Given the description of an element on the screen output the (x, y) to click on. 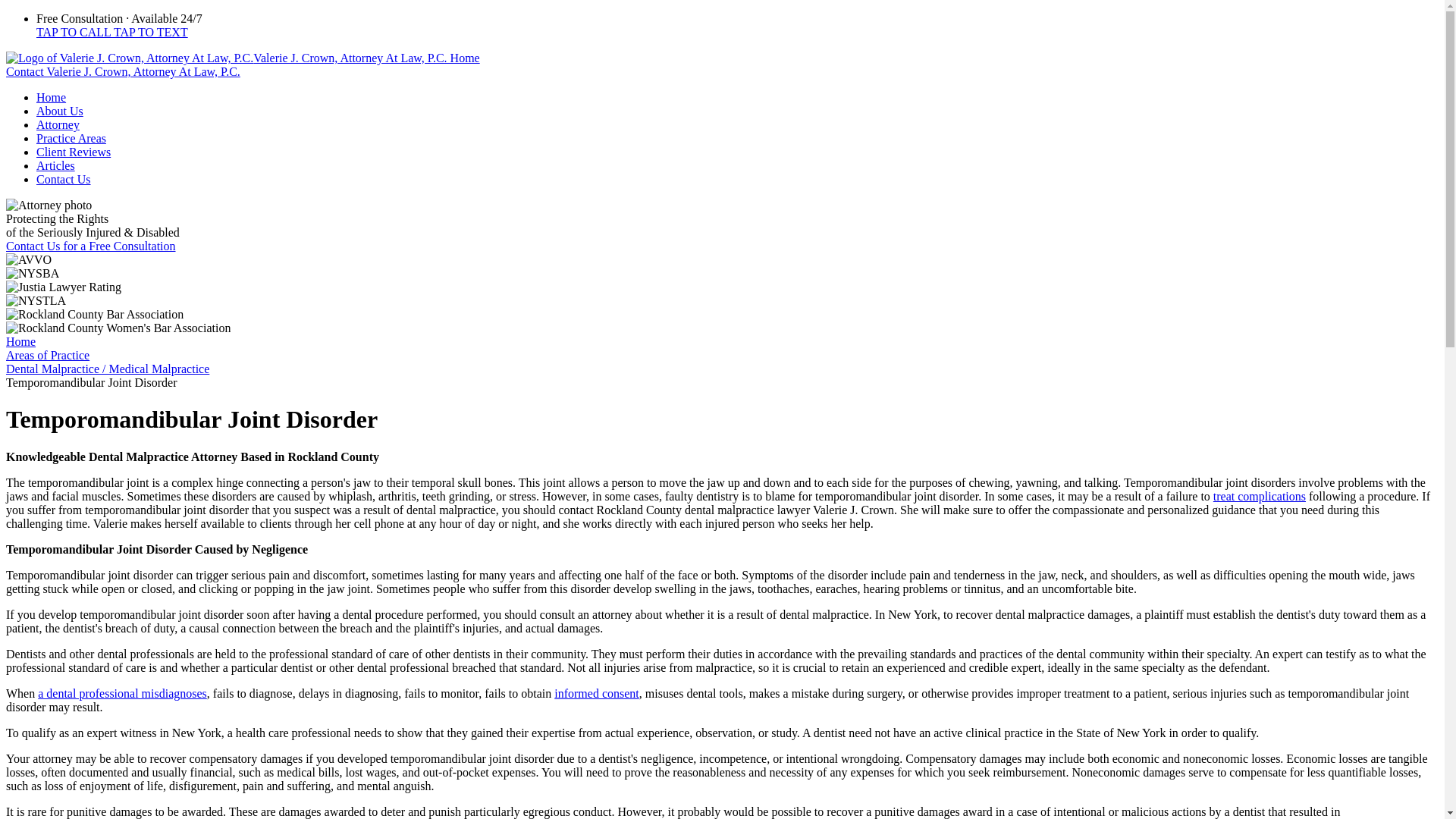
Back to Home (242, 57)
Home (50, 97)
Contact Valerie J. Crown, Attorney At Law, P.C. (122, 71)
TAP TO TEXT (150, 31)
a dental professional misdiagnoses (121, 693)
Articles (55, 164)
Valerie J. Crown, Attorney At Law, P.C. Home (242, 57)
Client Reviews (73, 151)
Attorney (58, 124)
treat complications (1259, 495)
